Given the description of an element on the screen output the (x, y) to click on. 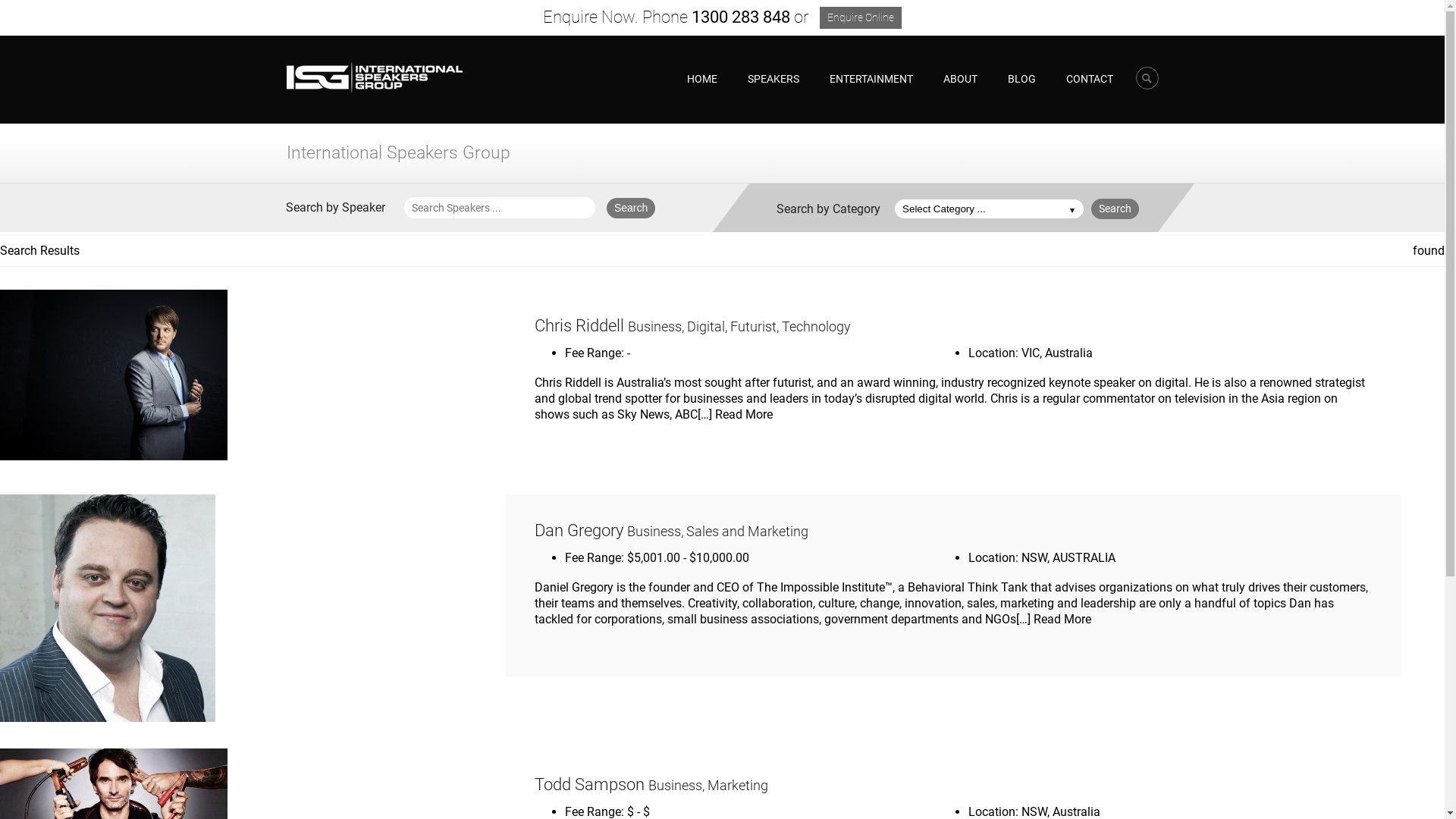
Marketing Element type: text (737, 785)
BLOG Element type: text (1020, 79)
ENTERTAINMENT Element type: text (871, 79)
Business Element type: text (675, 785)
Enquire Online Element type: text (860, 17)
ABOUT Element type: text (960, 79)
SPEAKERS Element type: text (773, 79)
Futurist Element type: text (753, 326)
Business Element type: text (654, 326)
CONTACT Element type: text (1089, 79)
Search Element type: text (1115, 208)
Read More Element type: text (1062, 618)
HOME Element type: text (701, 79)
1300 283 848 Element type: text (740, 16)
Digital Element type: text (705, 326)
Technology Element type: text (815, 326)
Read More Element type: text (743, 414)
Open/close search form Element type: hover (1146, 77)
Search Element type: text (630, 207)
Sales and Marketing Element type: text (747, 531)
Business Element type: text (653, 531)
